Given the description of an element on the screen output the (x, y) to click on. 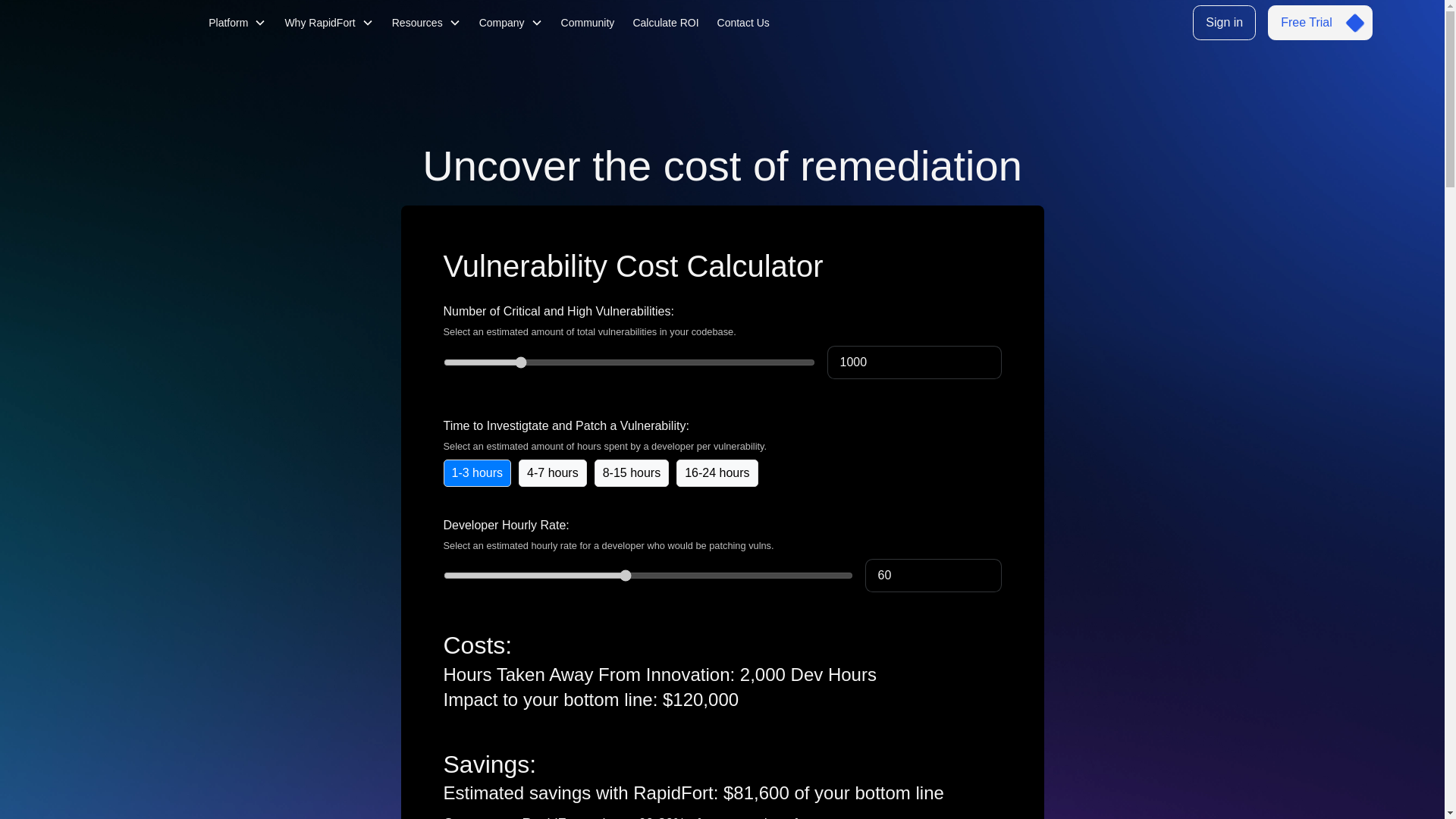
100 (646, 575)
Calculate ROI (665, 23)
1000 (914, 362)
Community (587, 23)
Sign in (1223, 22)
Free Trial (1320, 22)
60 (932, 575)
1000 (627, 362)
Contact Us (742, 23)
